Given the description of an element on the screen output the (x, y) to click on. 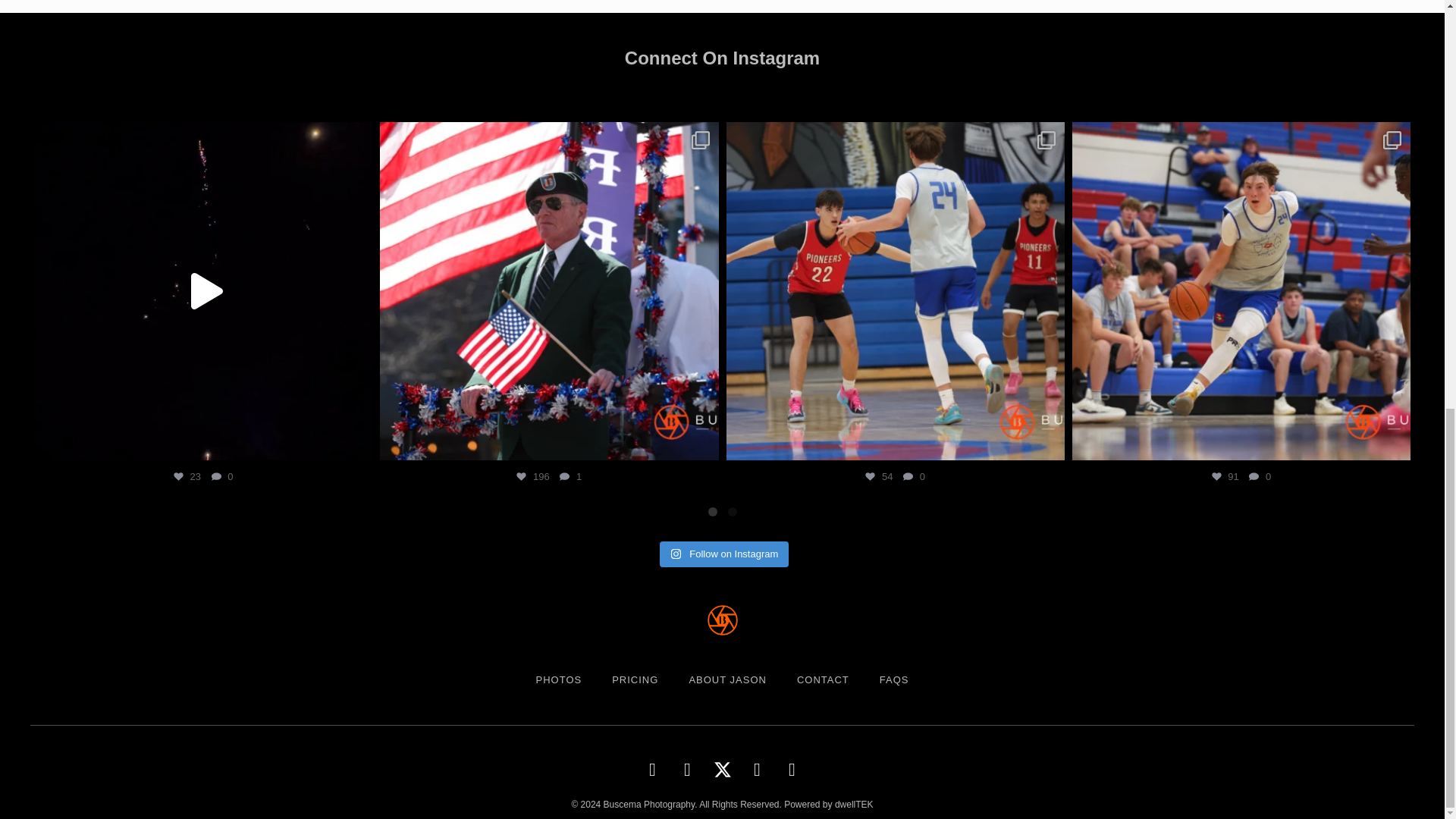
ABOUT JASON (727, 679)
Facebook (756, 768)
Buscema Photography Logo Mark (721, 620)
FAQS (894, 679)
CONTACT (823, 679)
Follow on Instagram (724, 554)
Instagram (652, 768)
dwellTEK (853, 804)
Pinterest (686, 768)
PHOTOS (558, 679)
